Given the description of an element on the screen output the (x, y) to click on. 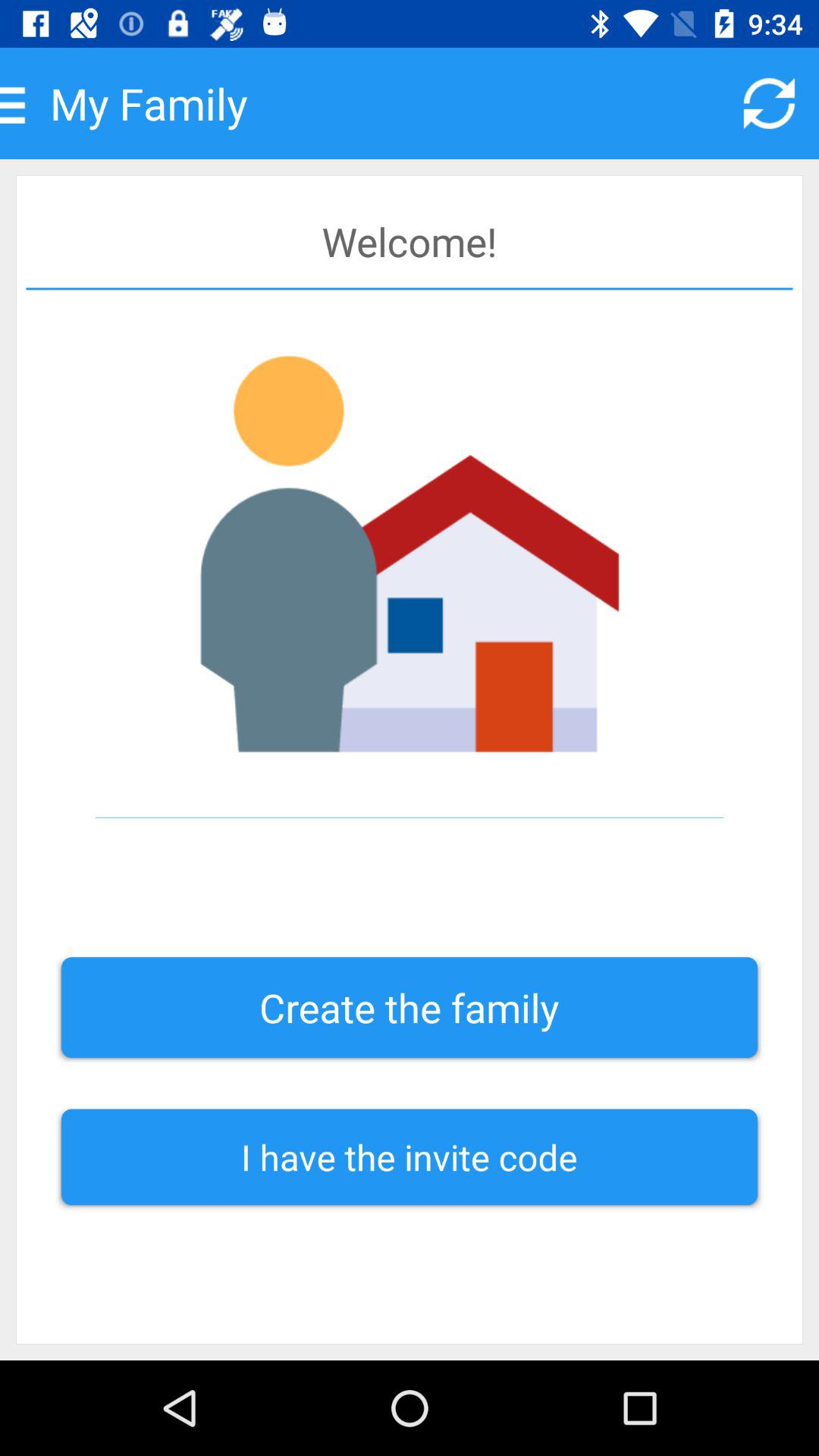
turn off the item to the right of my family item (769, 103)
